Given the description of an element on the screen output the (x, y) to click on. 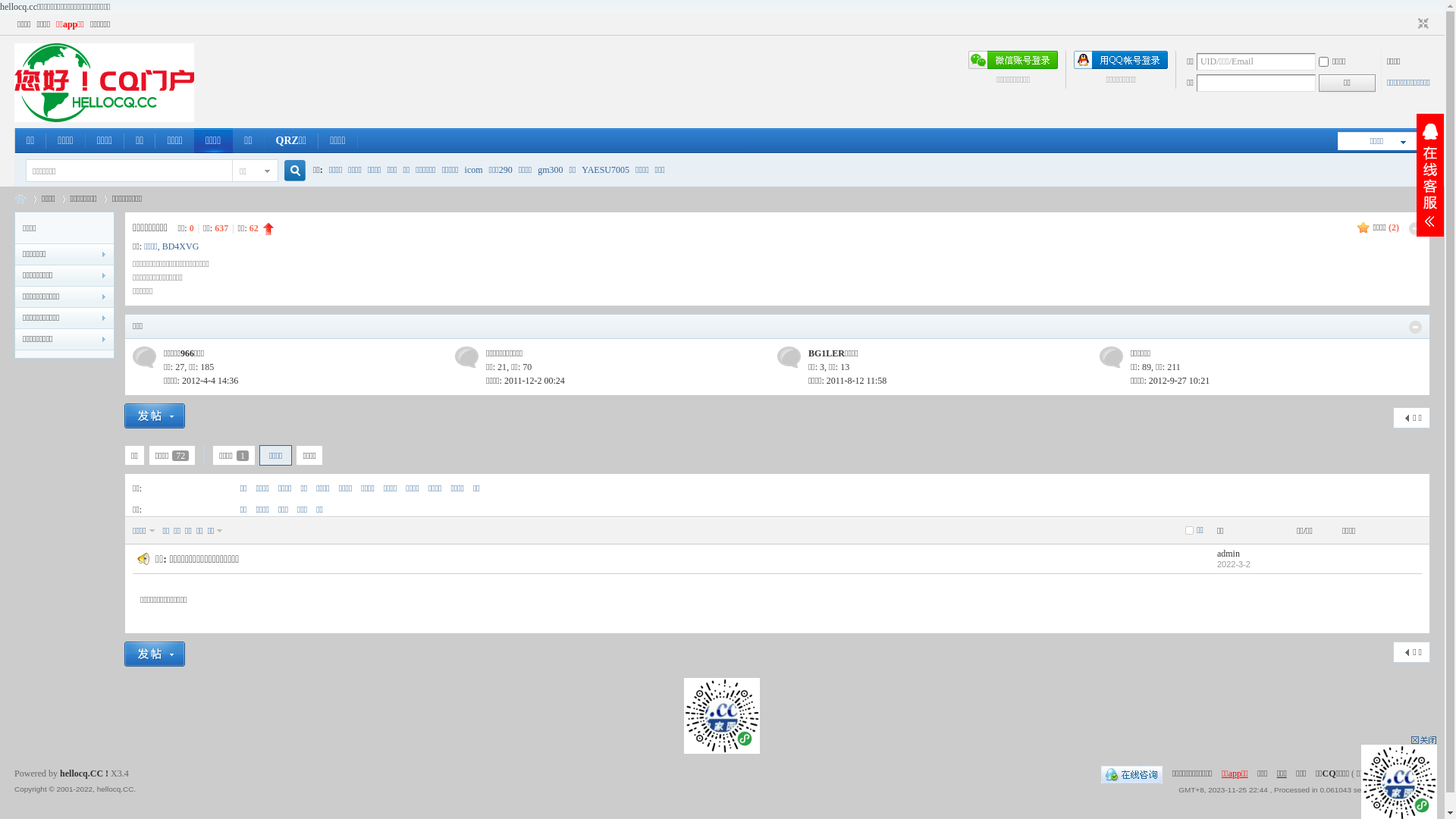
true Element type: text (289, 170)
QQ Element type: hover (1131, 773)
icom Element type: text (473, 169)
YAESU7005 Element type: text (605, 169)
hellocq.CC ! Element type: text (83, 773)
BD4XVG Element type: text (180, 246)
gm300 Element type: text (549, 169)
admin Element type: text (1228, 553)
